Given the description of an element on the screen output the (x, y) to click on. 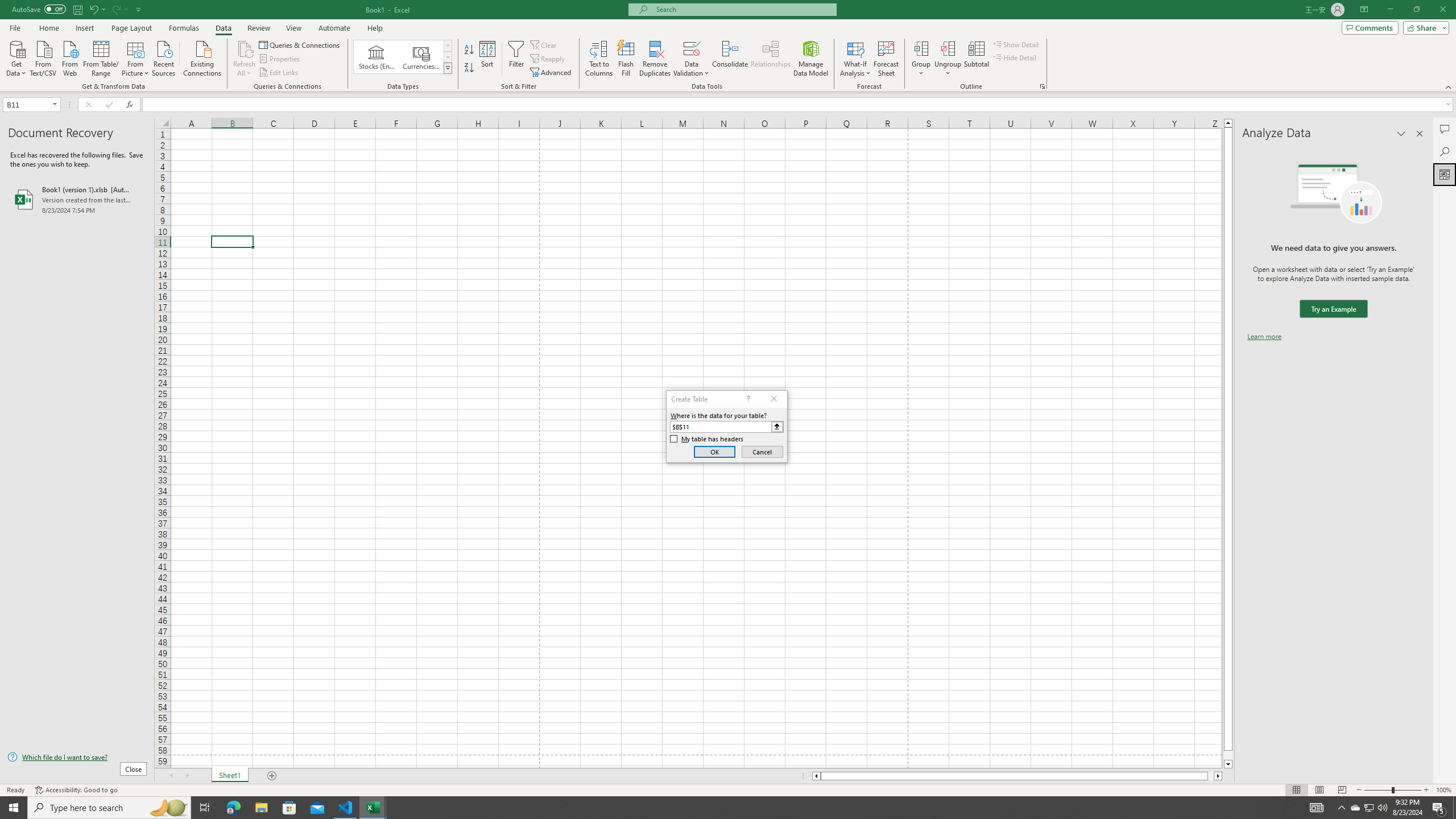
From Picture (135, 57)
From Web (69, 57)
